Given the description of an element on the screen output the (x, y) to click on. 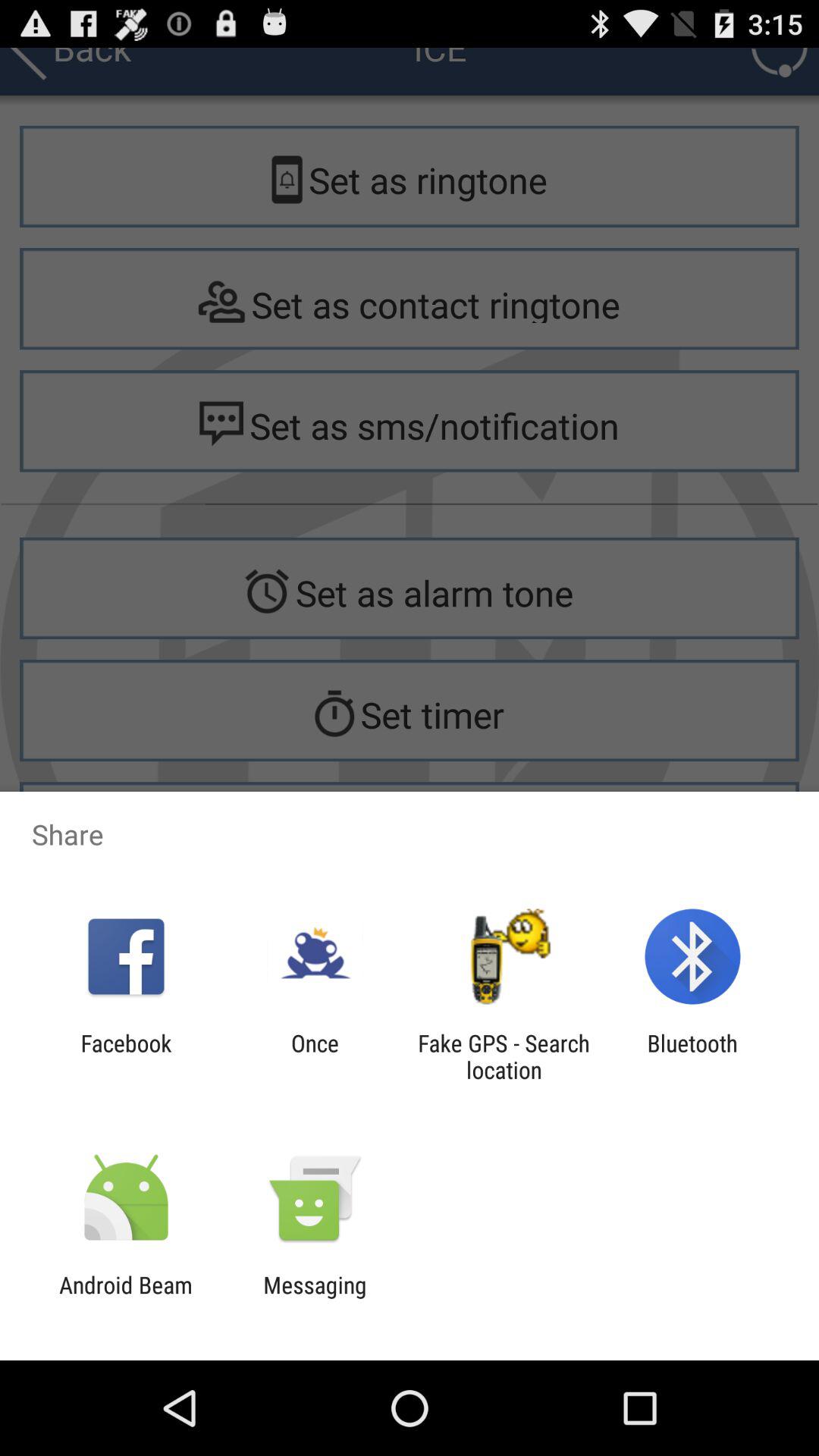
press app to the right of android beam item (314, 1298)
